Given the description of an element on the screen output the (x, y) to click on. 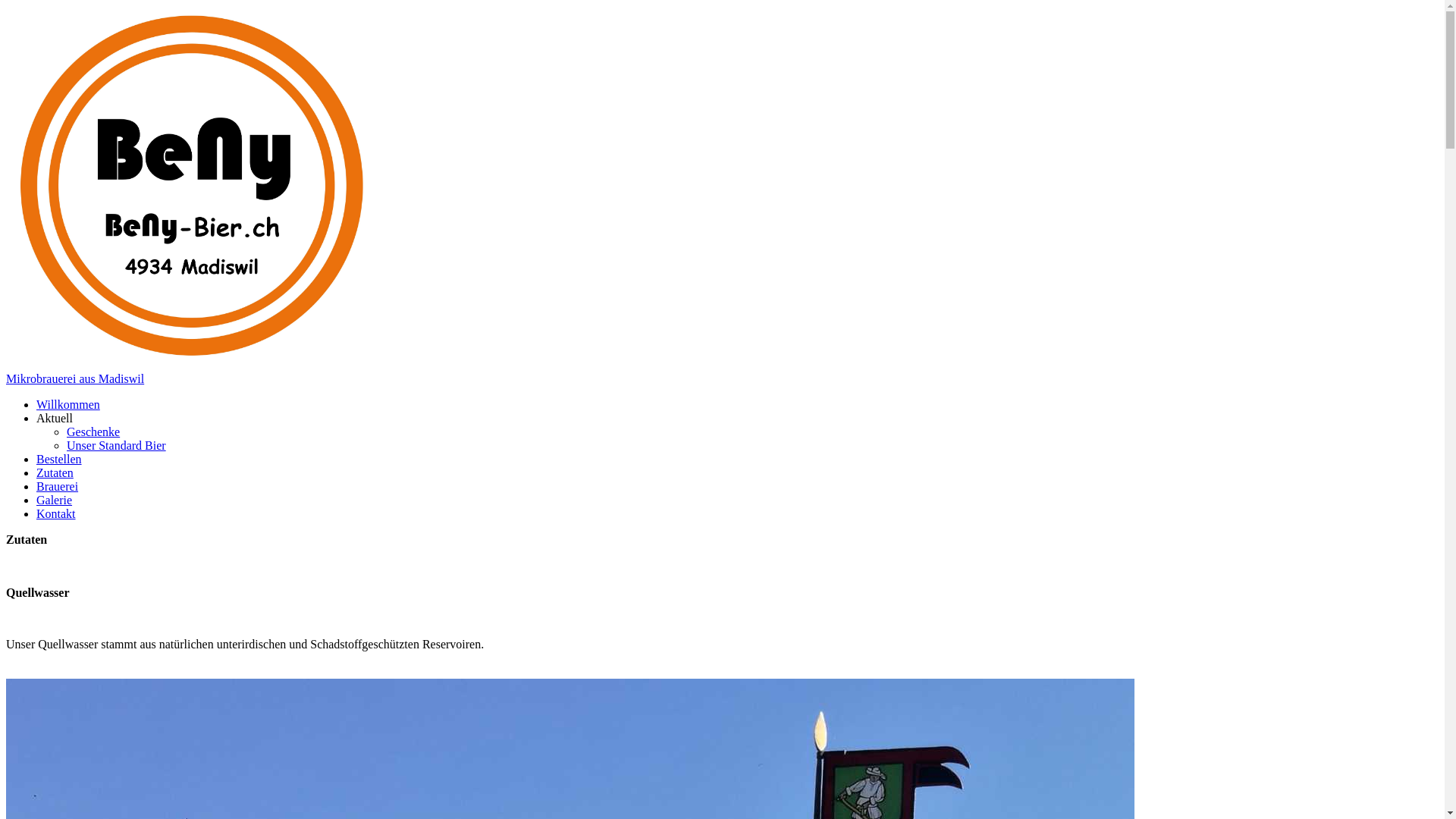
Zutaten Element type: text (54, 471)
Kontakt Element type: text (55, 512)
Geschenke Element type: text (92, 430)
Bestellen Element type: text (58, 457)
Galerie Element type: text (54, 498)
Unser Standard Bier Element type: text (116, 444)
Mikrobrauerei aus Madiswil Element type: text (75, 377)
Willkommen Element type: text (68, 403)
Brauerei Element type: text (57, 485)
